Given the description of an element on the screen output the (x, y) to click on. 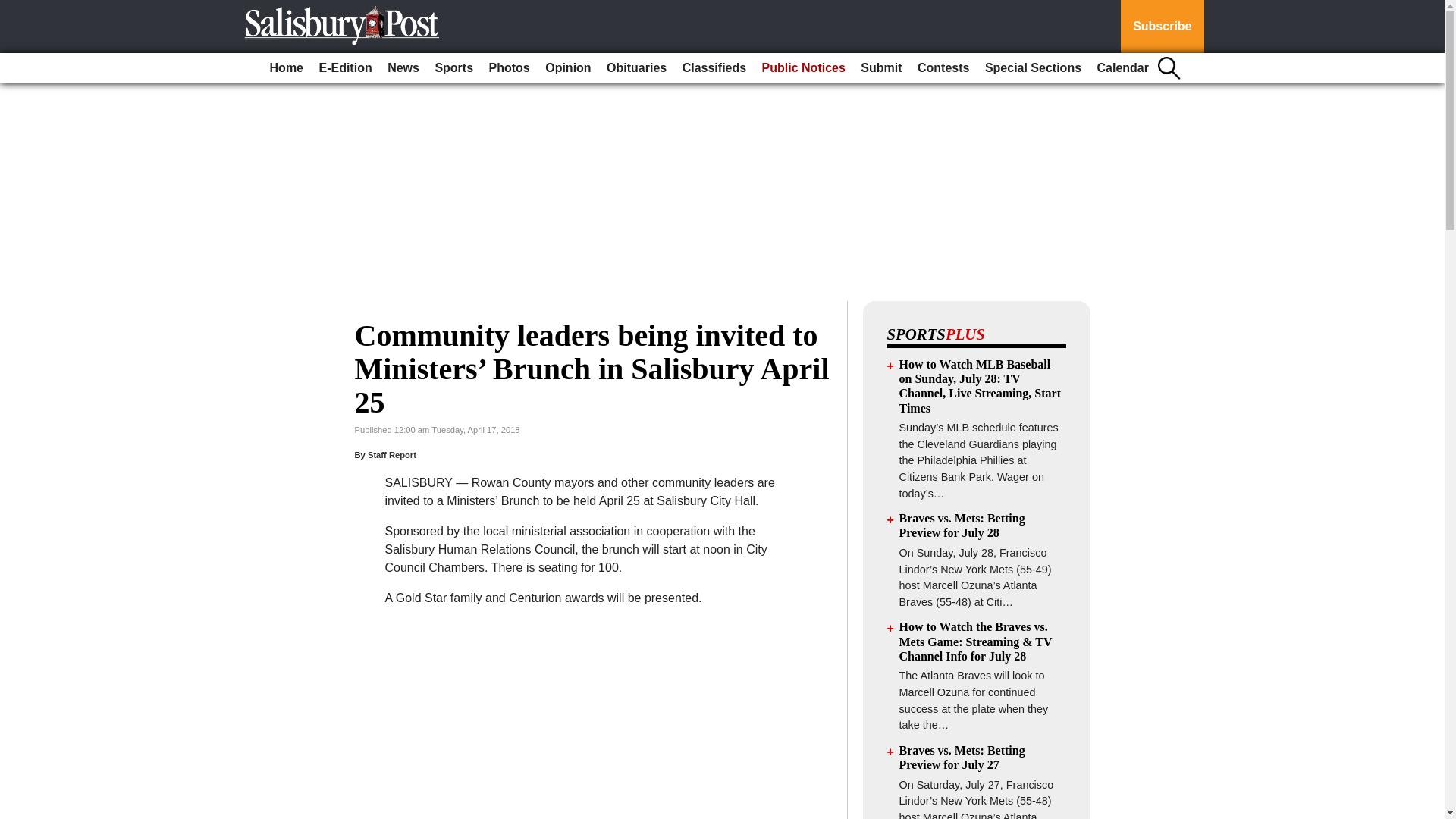
Photos (509, 68)
Contests (943, 68)
News (403, 68)
Obituaries (635, 68)
Opinion (567, 68)
E-Edition (345, 68)
Classifieds (714, 68)
Subscribe (1162, 26)
Submit (880, 68)
Special Sections (1032, 68)
Public Notices (803, 68)
Home (285, 68)
Sports (453, 68)
